Given the description of an element on the screen output the (x, y) to click on. 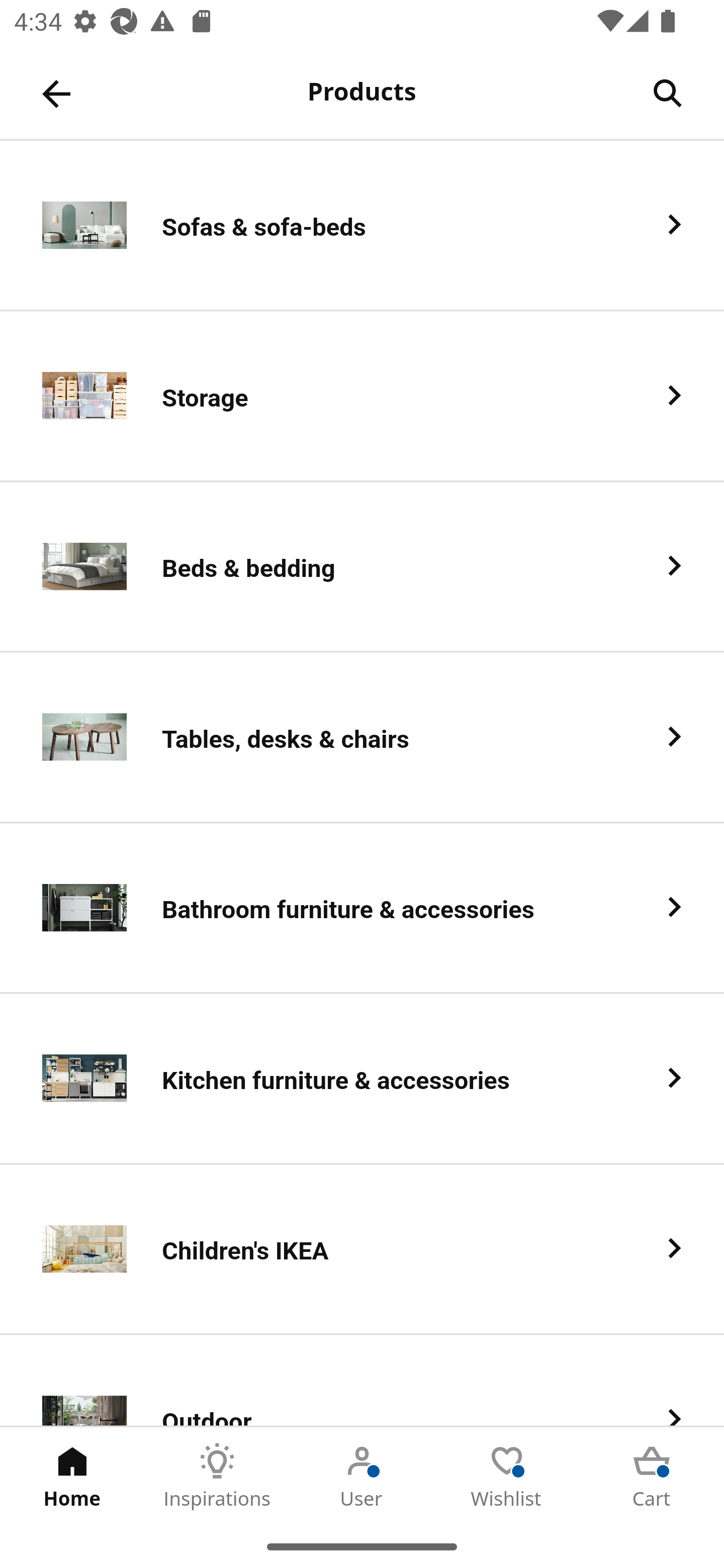
Sofas & sofa-beds (362, 226)
Storage (362, 396)
Beds & bedding (362, 566)
Tables, desks & chairs (362, 737)
Bathroom furniture & accessories (362, 908)
Kitchen furniture & accessories (362, 1079)
Children's IKEA (362, 1250)
Home
Tab 1 of 5 (72, 1476)
Inspirations
Tab 2 of 5 (216, 1476)
User
Tab 3 of 5 (361, 1476)
Wishlist
Tab 4 of 5 (506, 1476)
Cart
Tab 5 of 5 (651, 1476)
